Given the description of an element on the screen output the (x, y) to click on. 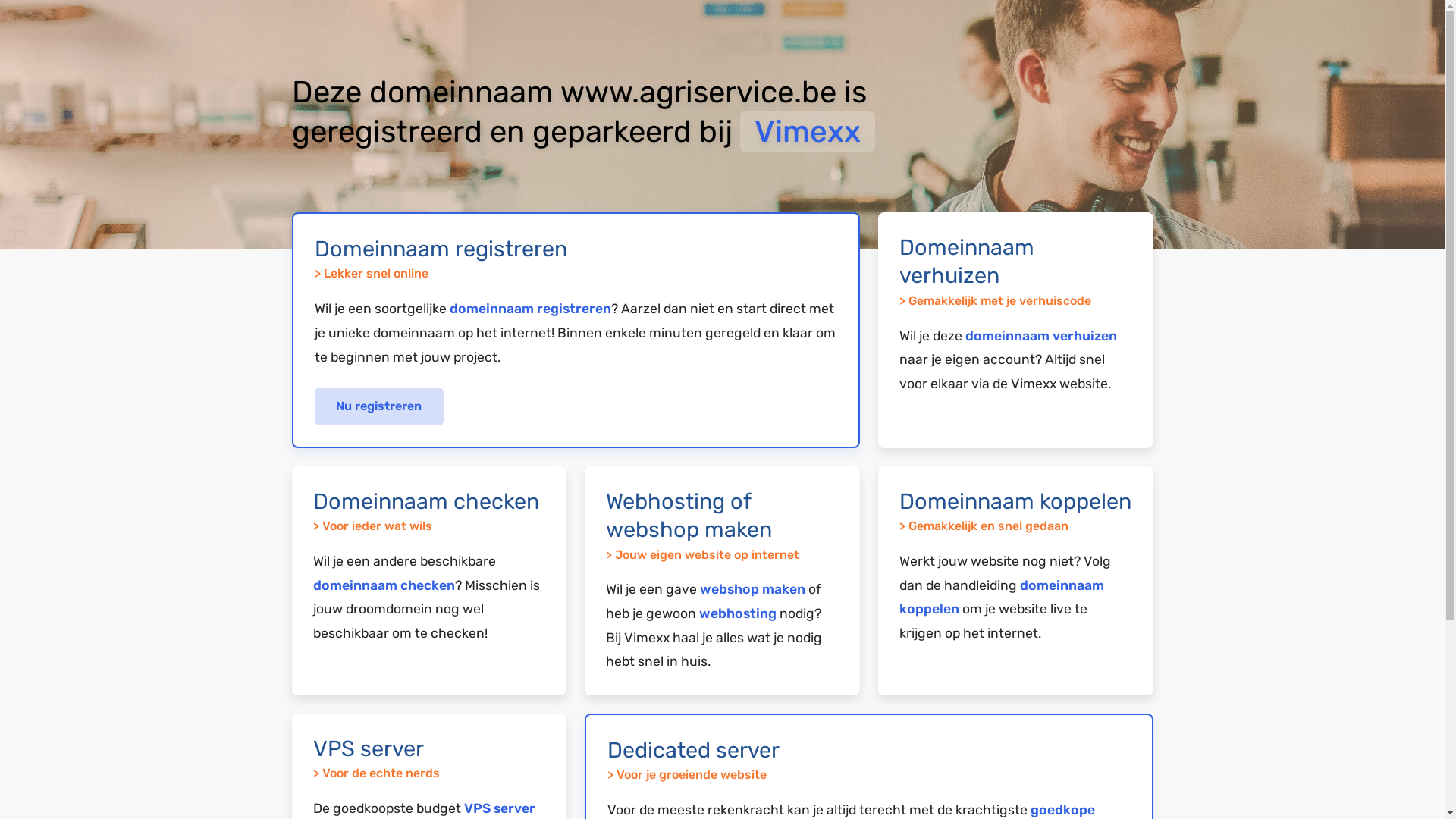
Nu registreren Element type: text (378, 406)
webshop maken Element type: text (752, 588)
Vimexx Element type: text (807, 131)
webhosting Element type: text (737, 613)
domeinnaam verhuizen Element type: text (1041, 335)
domeinnaam koppelen Element type: text (1001, 597)
VPS server Element type: text (499, 807)
domeinnaam checken Element type: text (383, 585)
domeinnaam registreren Element type: text (529, 308)
